Given the description of an element on the screen output the (x, y) to click on. 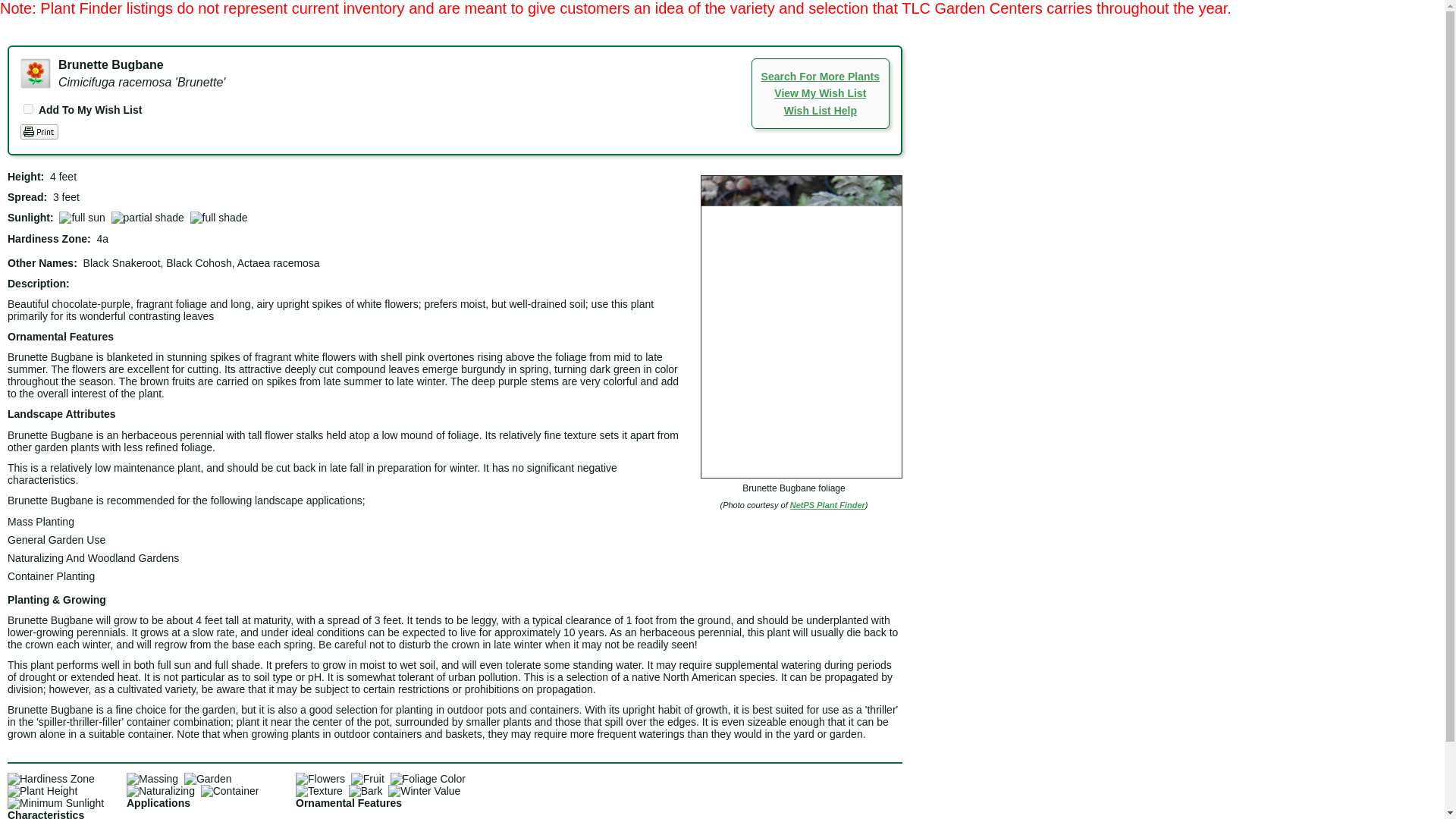
Container (229, 790)
Garden (207, 778)
print page (39, 131)
True (28, 108)
View My Wish List (820, 92)
perennial (35, 73)
partial shade (148, 217)
Flowers (320, 778)
Search For More Plants (820, 76)
full sun (81, 217)
